Given the description of an element on the screen output the (x, y) to click on. 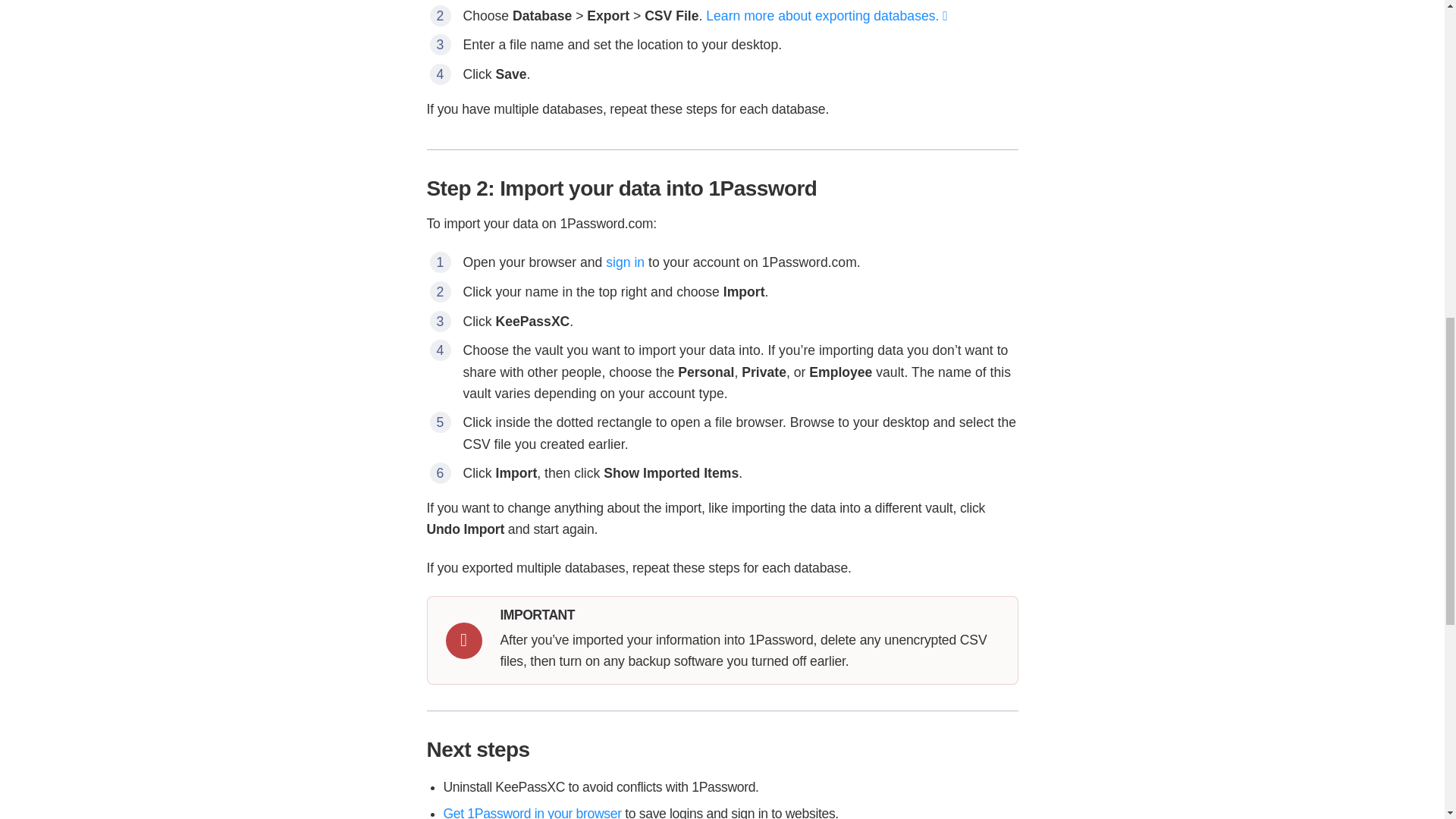
Get 1Password in your browser (531, 812)
Learn more about exporting databases. (826, 15)
sign in (625, 262)
